Given the description of an element on the screen output the (x, y) to click on. 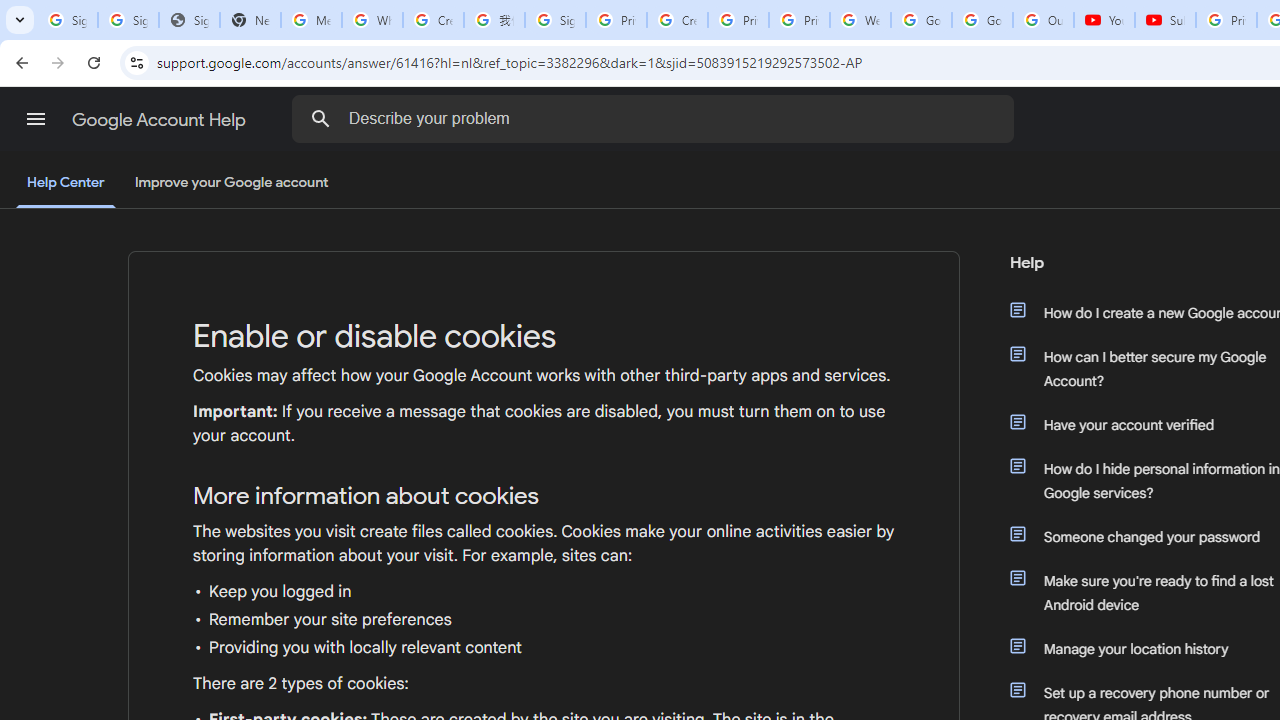
New Tab (250, 20)
Sign in - Google Accounts (67, 20)
Improve your Google account (231, 183)
Help Center (65, 183)
Google Account (982, 20)
Create your Google Account (433, 20)
Main menu (35, 119)
